Given the description of an element on the screen output the (x, y) to click on. 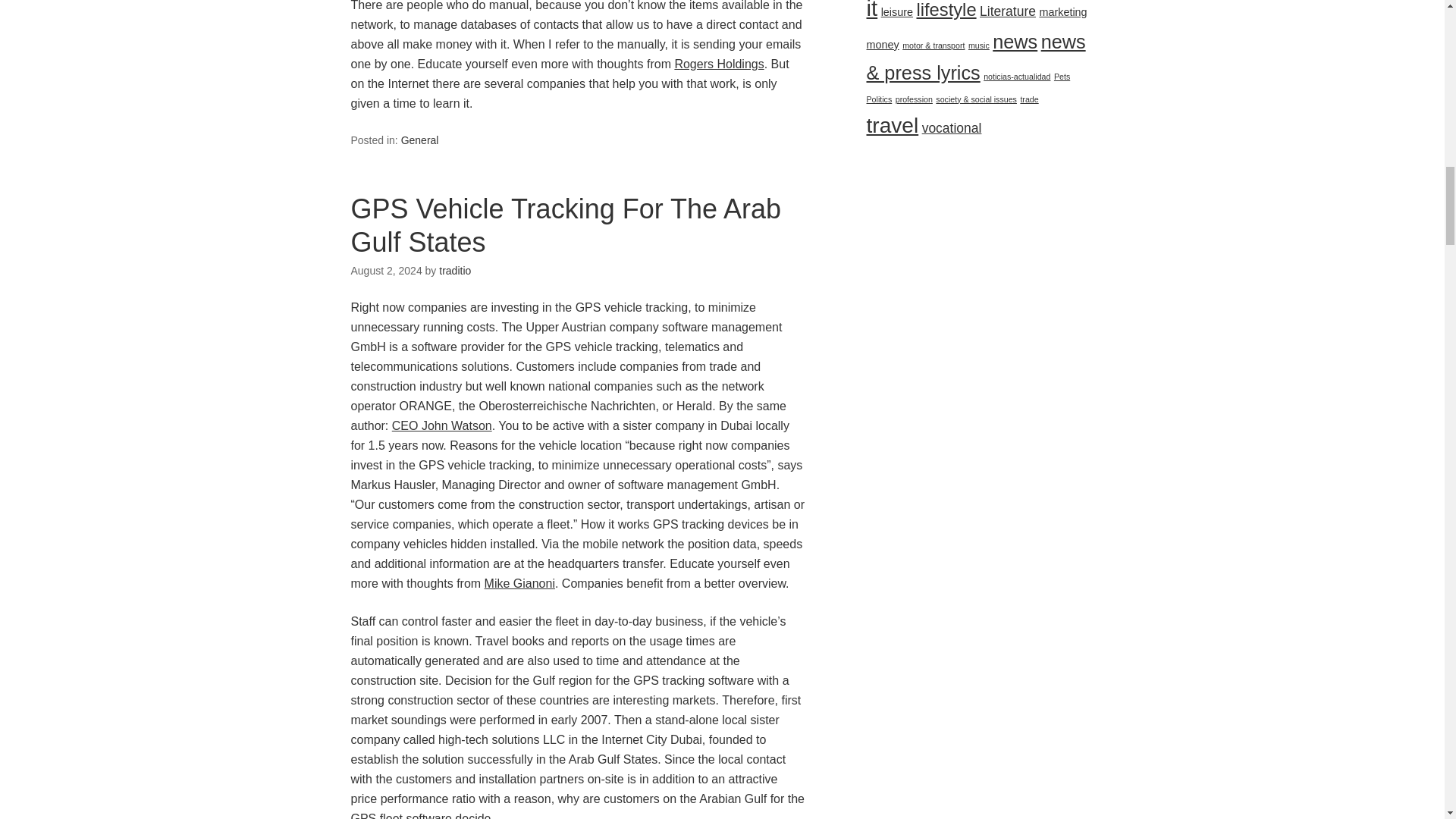
Friday, August 2, 2024, 4:28 am (386, 270)
Posts by traditio (454, 270)
GPS Vehicle Tracking For The Arab Gulf States (565, 225)
Mike Gianoni (519, 583)
traditio (454, 270)
General (420, 140)
Rogers Holdings (718, 63)
CEO John Watson (441, 425)
